Given the description of an element on the screen output the (x, y) to click on. 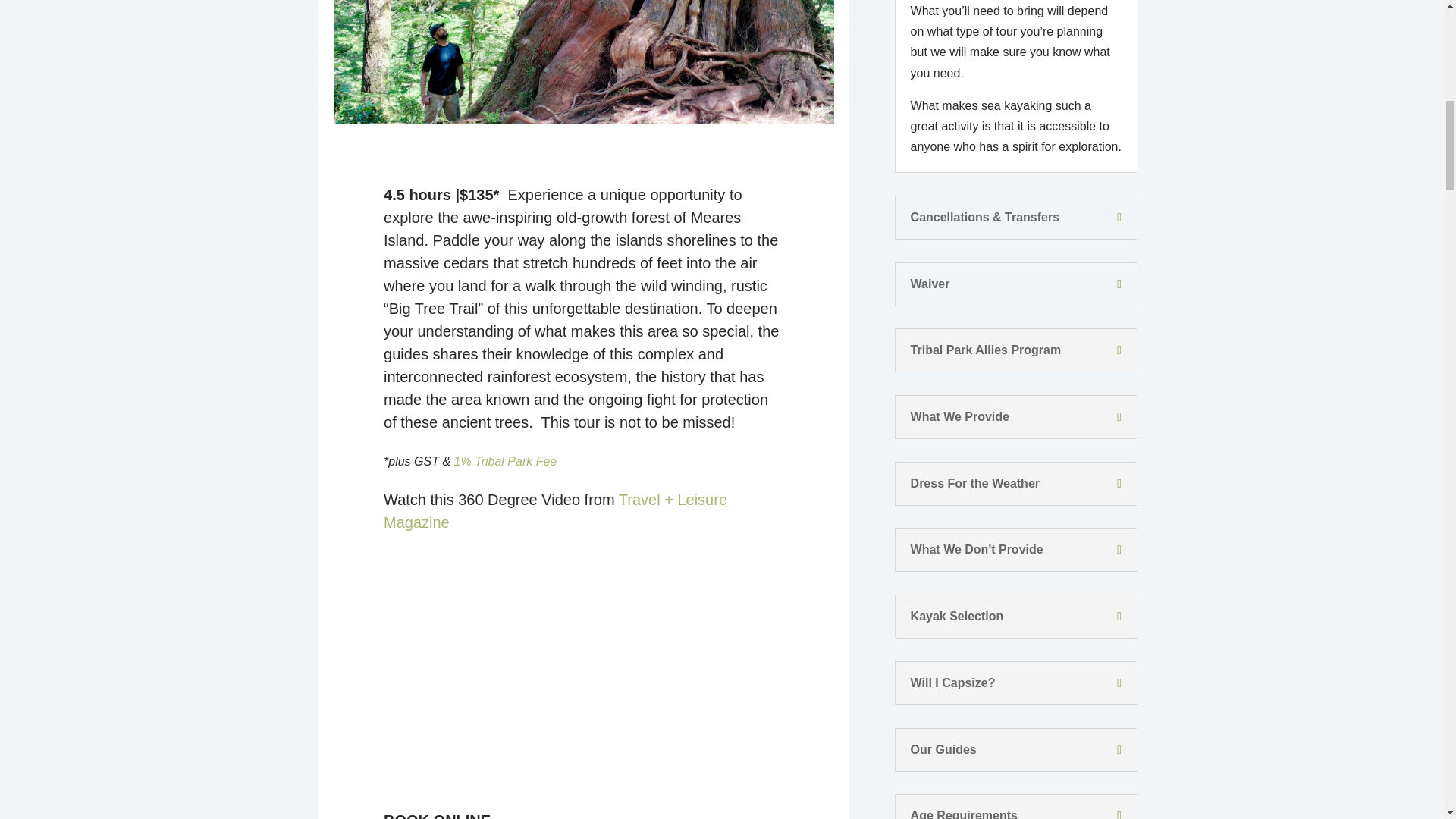
Big Trees (583, 62)
